Given the description of an element on the screen output the (x, y) to click on. 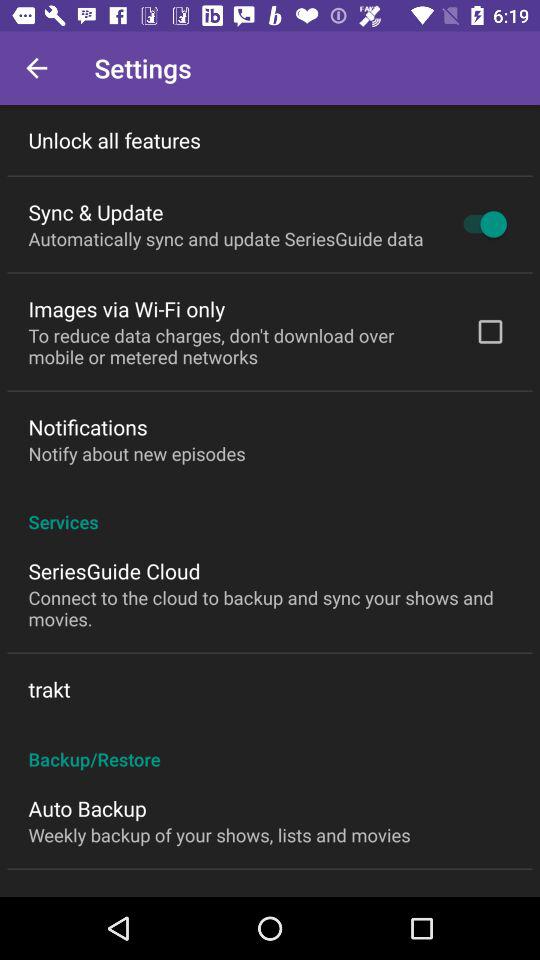
turn on icon below automatically sync and item (126, 308)
